Given the description of an element on the screen output the (x, y) to click on. 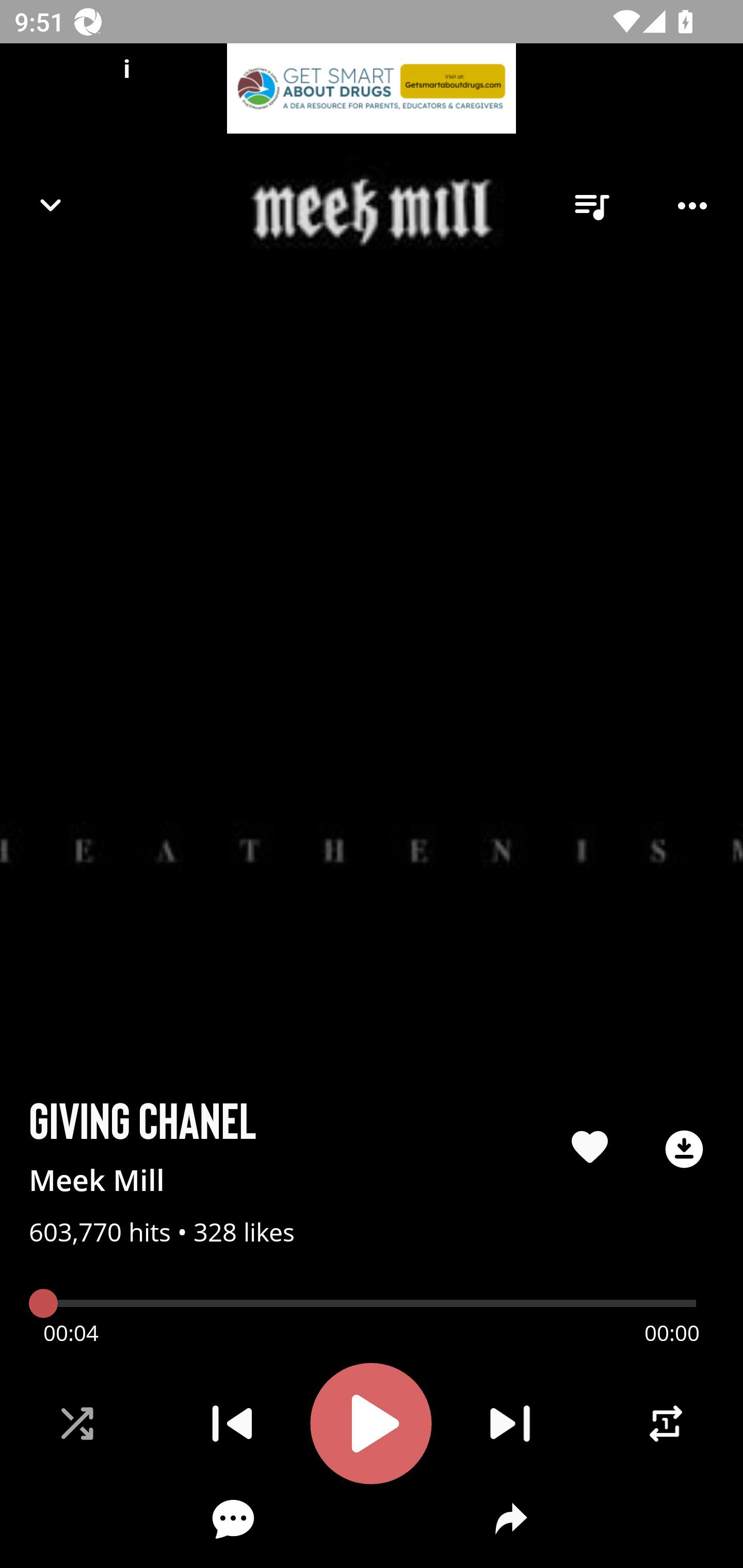
Navigate up (50, 205)
queue (590, 206)
Player options (692, 206)
